Given the description of an element on the screen output the (x, y) to click on. 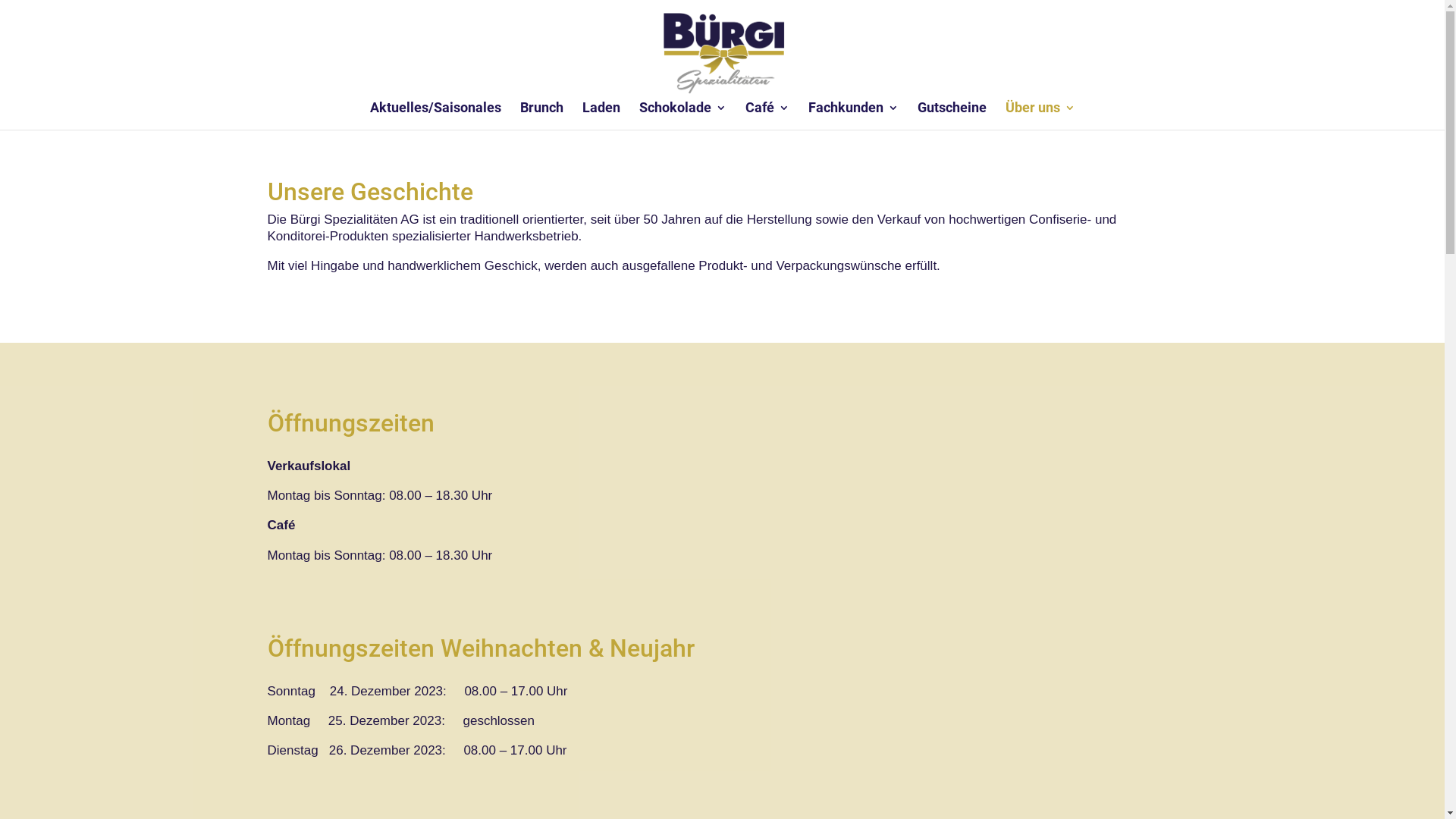
Fachkunden Element type: text (853, 115)
Schokolade Element type: text (681, 115)
Laden Element type: text (601, 115)
Gutscheine Element type: text (951, 115)
Aktuelles/Saisonales Element type: text (435, 115)
Brunch Element type: text (541, 115)
